Given the description of an element on the screen output the (x, y) to click on. 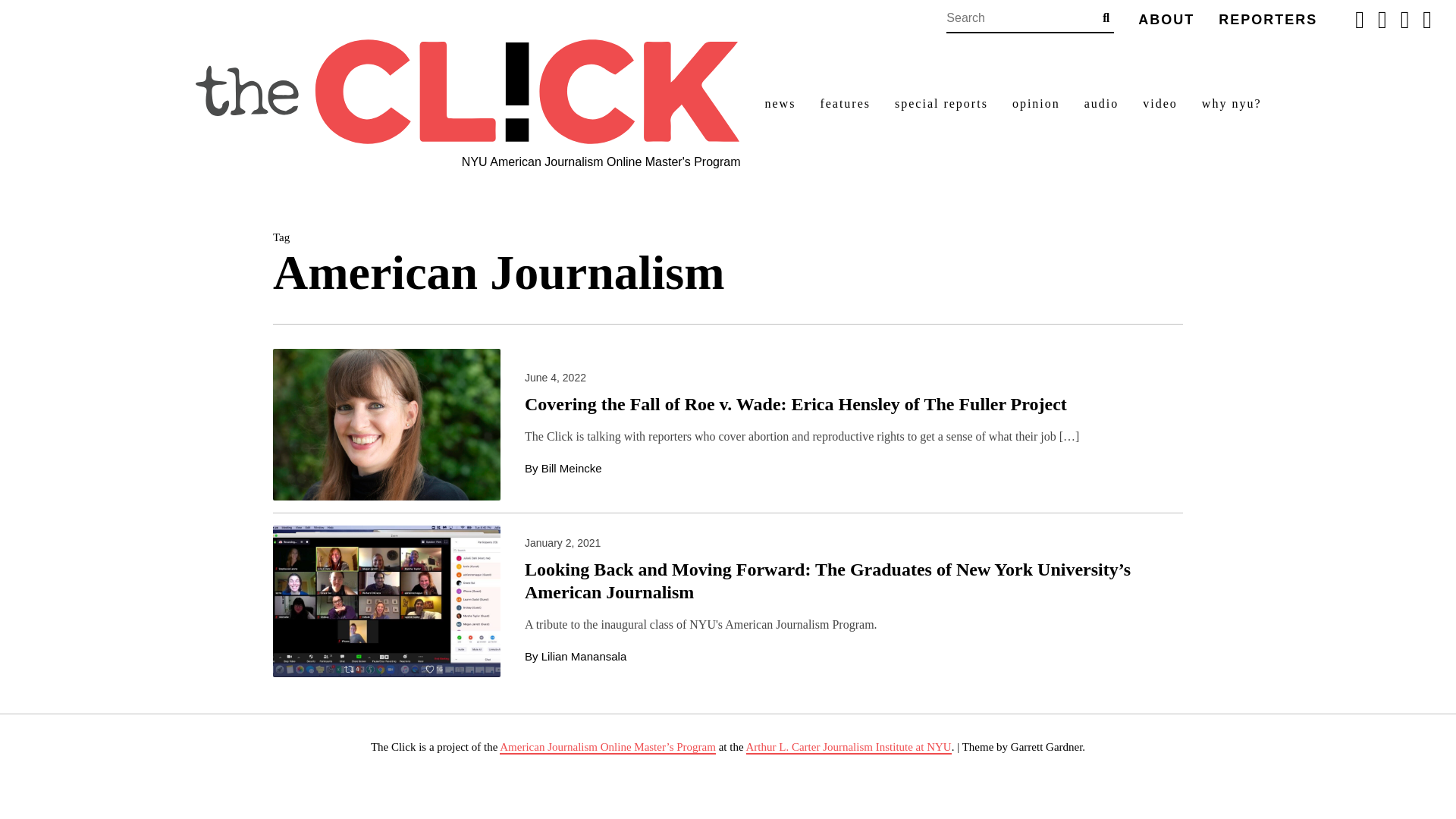
NYU American Journalism Online Master's Program (601, 162)
audio (1101, 103)
special reports (941, 103)
The Click (466, 91)
Arthur L. Carter Journalism Institute at NYU (848, 747)
features (844, 103)
ABOUT (1165, 19)
news (779, 103)
why nyu? (1232, 103)
video (1159, 103)
REPORTERS (1267, 19)
opinion (1035, 103)
